Given the description of an element on the screen output the (x, y) to click on. 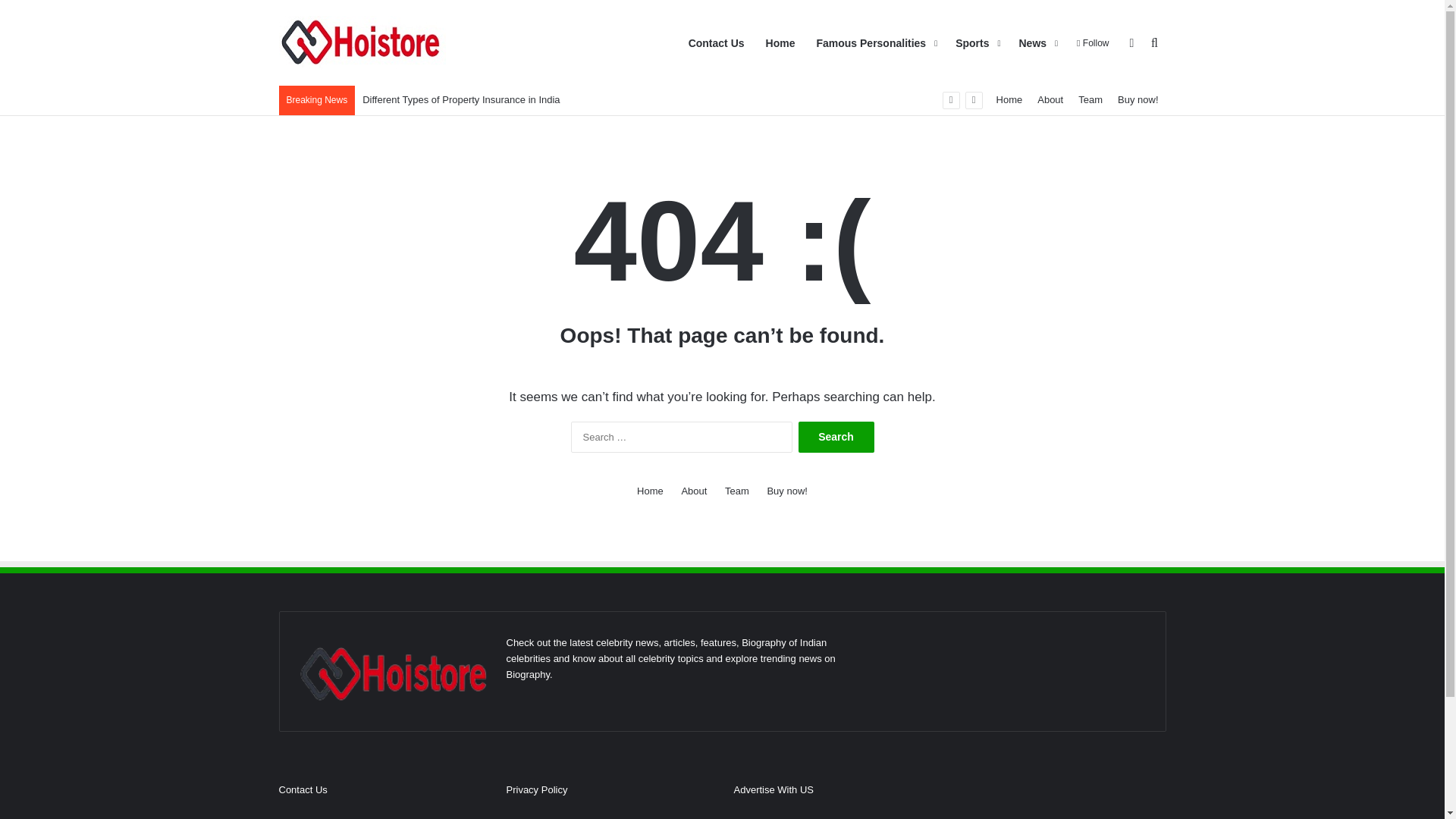
Home (780, 42)
Sidebar (1131, 42)
About (693, 490)
News (1037, 42)
Buy now! (1137, 100)
Search (835, 436)
Contact Us (716, 42)
Home (1009, 100)
Different Types of Property Insurance in India (460, 99)
Search for (1154, 42)
About (1049, 100)
Home (650, 490)
Search (835, 436)
Buy now! (786, 490)
Famous Personalities (874, 42)
